Given the description of an element on the screen output the (x, y) to click on. 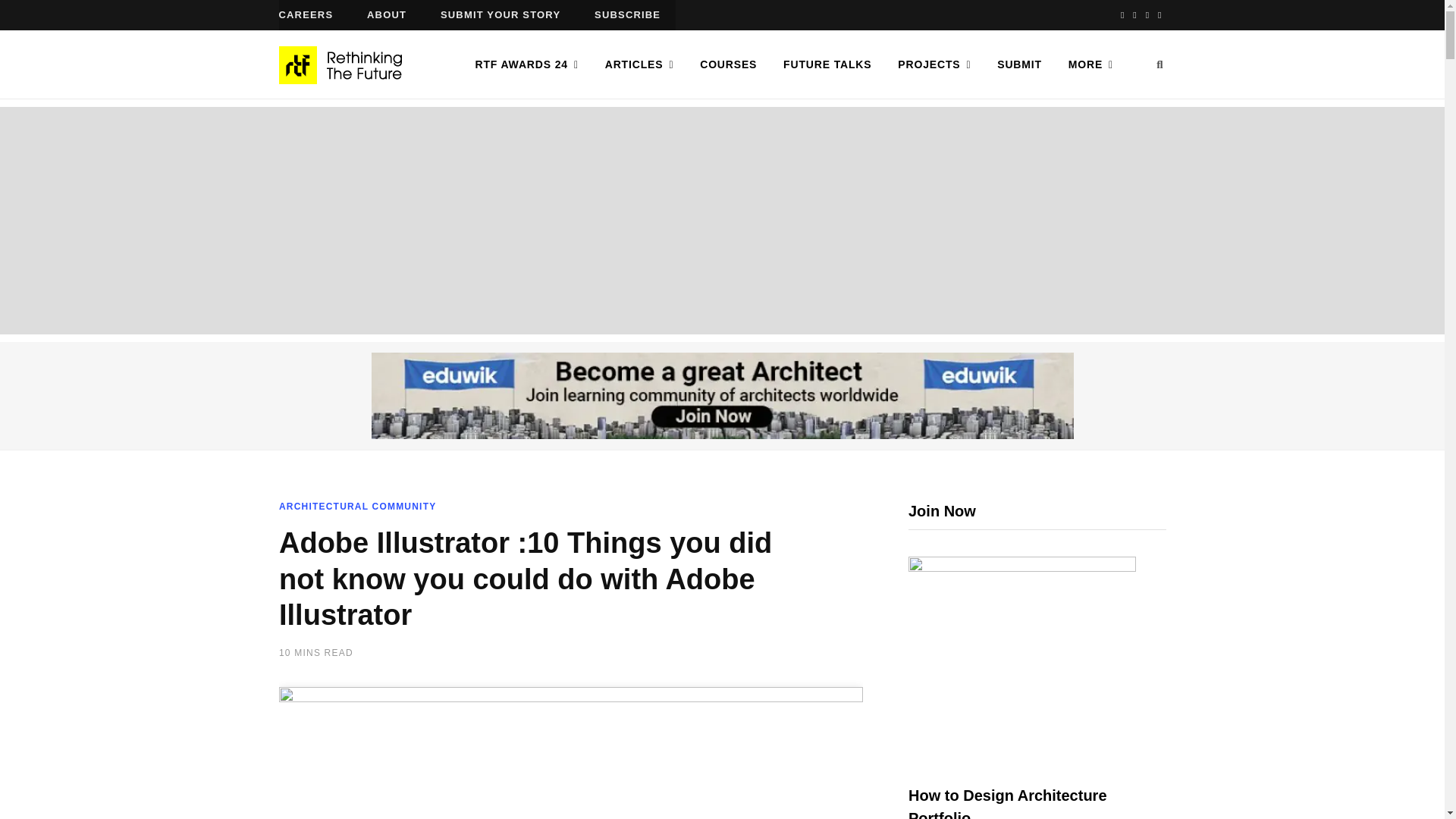
ABOUT (387, 15)
SUBMIT YOUR STORY (500, 15)
RTF AWARDS 24 (526, 64)
CAREERS (306, 15)
SUBSCRIBE (627, 15)
